Given the description of an element on the screen output the (x, y) to click on. 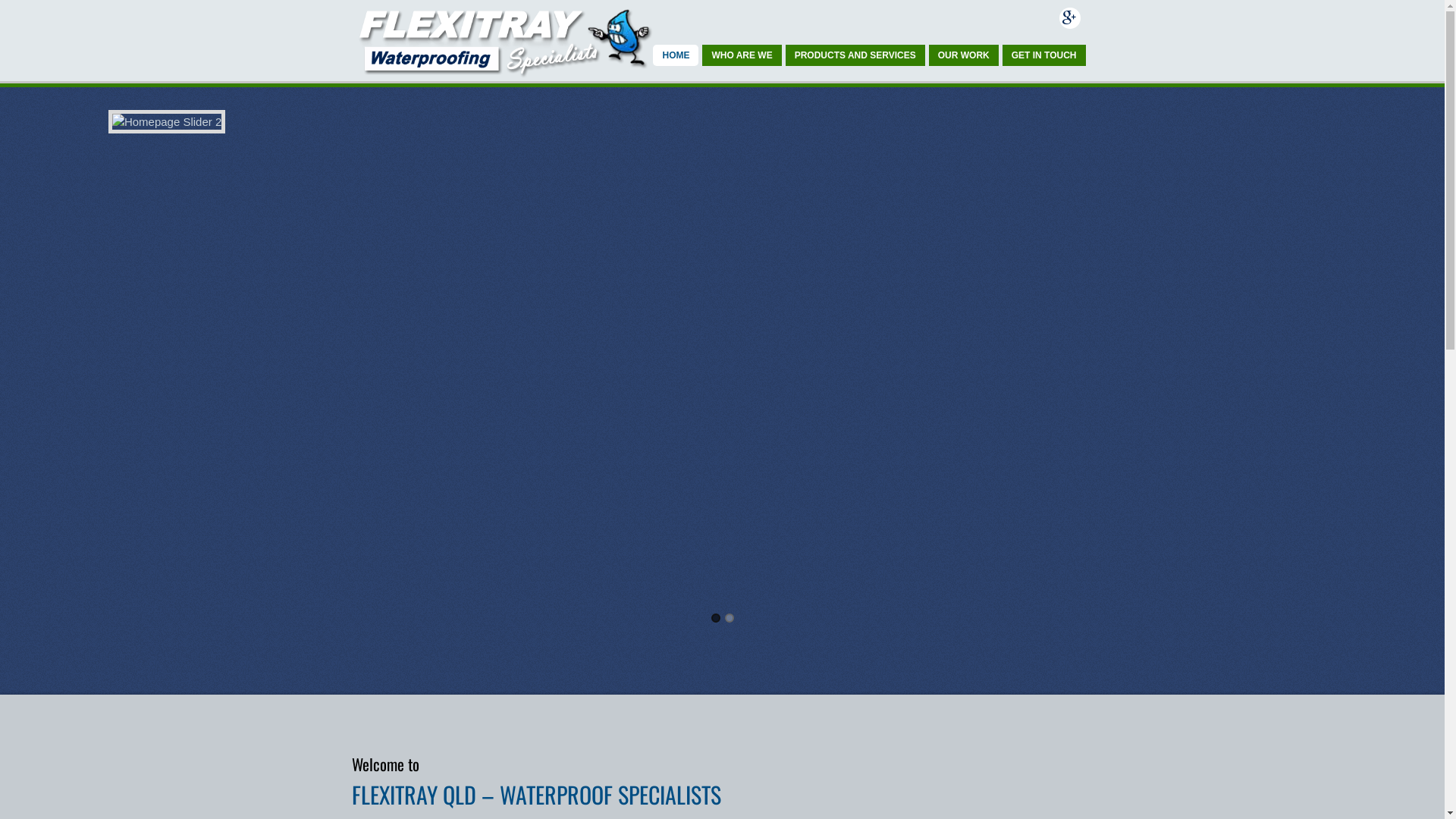
OUR WORK Element type: text (963, 54)
WHO ARE WE Element type: text (741, 54)
Flexitray Waterproofing Specialists Element type: hover (503, 40)
Flexitray Waterproofing Specialists Element type: hover (503, 71)
2 Element type: text (729, 617)
1 Element type: text (715, 617)
PRODUCTS AND SERVICES Element type: text (855, 54)
GET IN TOUCH Element type: text (1043, 54)
Google+ Element type: hover (1068, 17)
HOME Element type: text (675, 54)
